Given the description of an element on the screen output the (x, y) to click on. 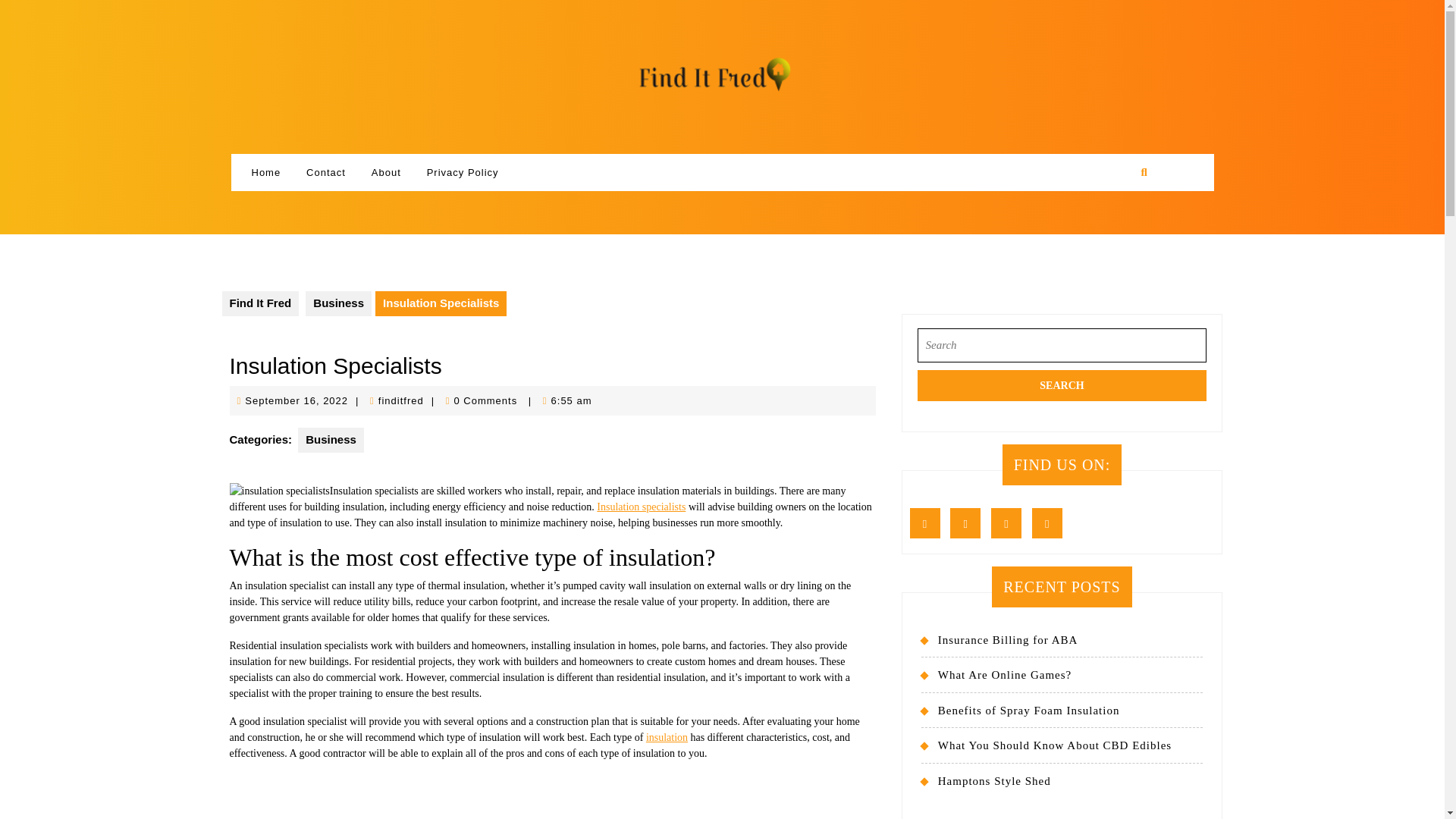
insulation (666, 737)
Insulation specialists (640, 506)
Search (1062, 385)
Home (266, 172)
Twitter (969, 523)
Business (338, 303)
Youtube (1051, 523)
Business (331, 439)
Instagram (1010, 523)
Privacy Policy (462, 172)
Search (1062, 385)
About (385, 172)
Contact (325, 172)
Search (295, 400)
